Given the description of an element on the screen output the (x, y) to click on. 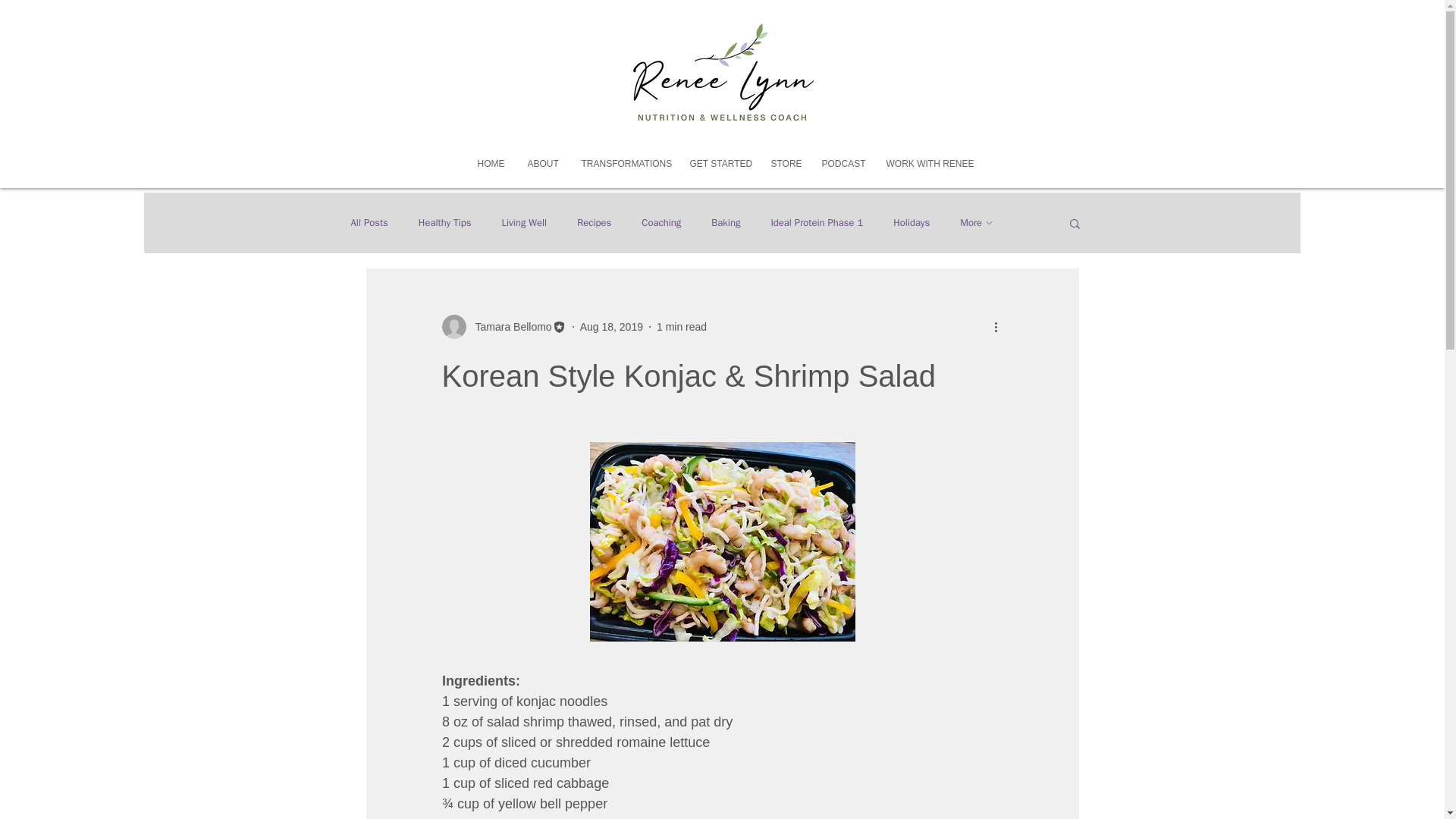
WORK WITH RENEE (926, 163)
Coaching (661, 223)
Holidays (911, 223)
HOME (490, 163)
Tamara Bellomo (508, 326)
1 min read (681, 326)
GET STARTED (718, 163)
Living Well (523, 223)
Ideal Protein Phase 1 (816, 223)
STORE (785, 163)
